Given the description of an element on the screen output the (x, y) to click on. 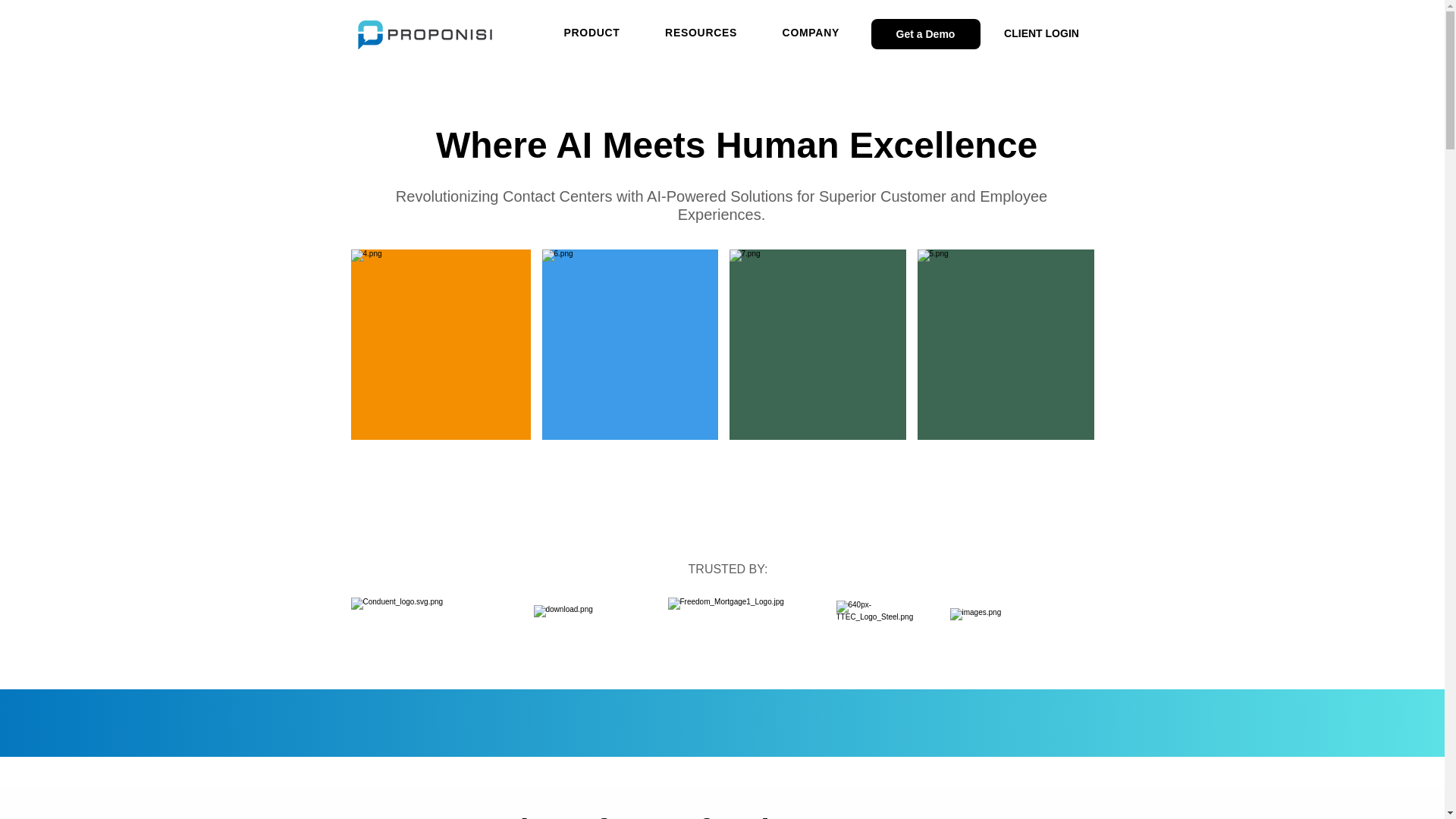
CLIENT LOGIN (1042, 33)
Get a Demo (924, 33)
